Given the description of an element on the screen output the (x, y) to click on. 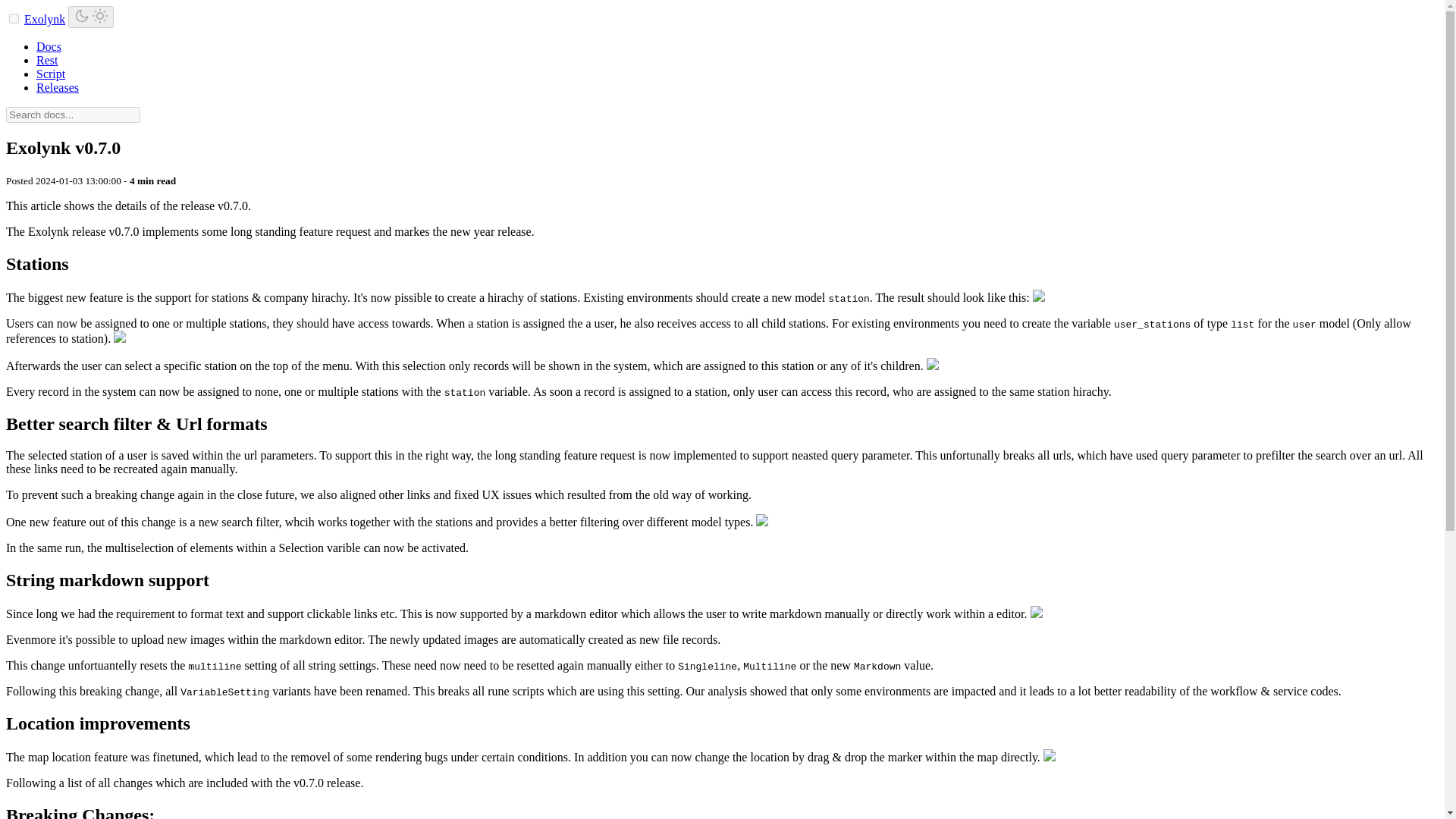
Exolynk (44, 19)
Rest (47, 60)
Script (50, 73)
Releases (57, 87)
on (13, 18)
Docs (48, 46)
